Given the description of an element on the screen output the (x, y) to click on. 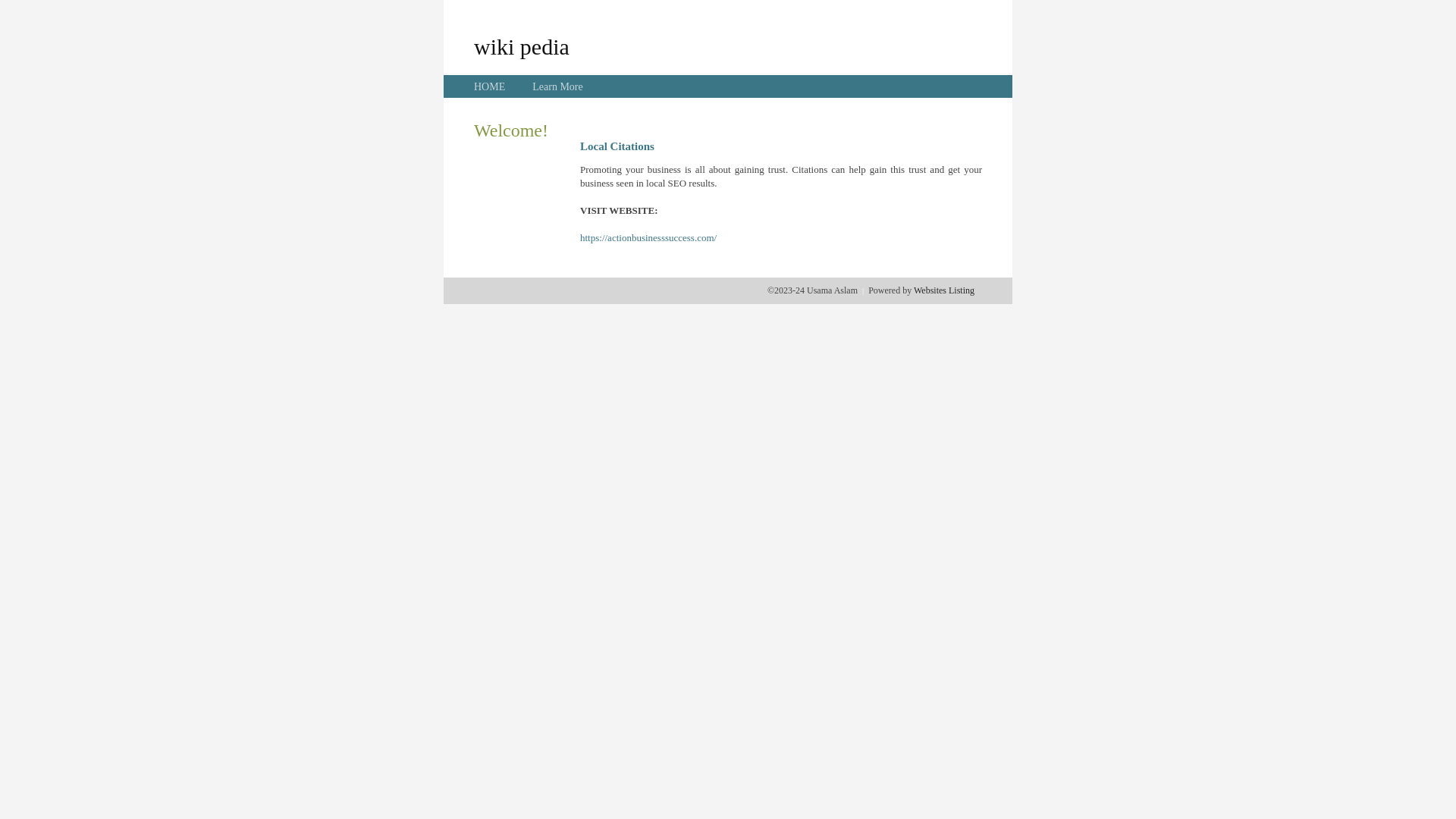
Learn More Element type: text (557, 86)
Websites Listing Element type: text (943, 290)
HOME Element type: text (489, 86)
wiki pedia Element type: text (521, 46)
https://actionbusinesssuccess.com/ Element type: text (648, 237)
